Given the description of an element on the screen output the (x, y) to click on. 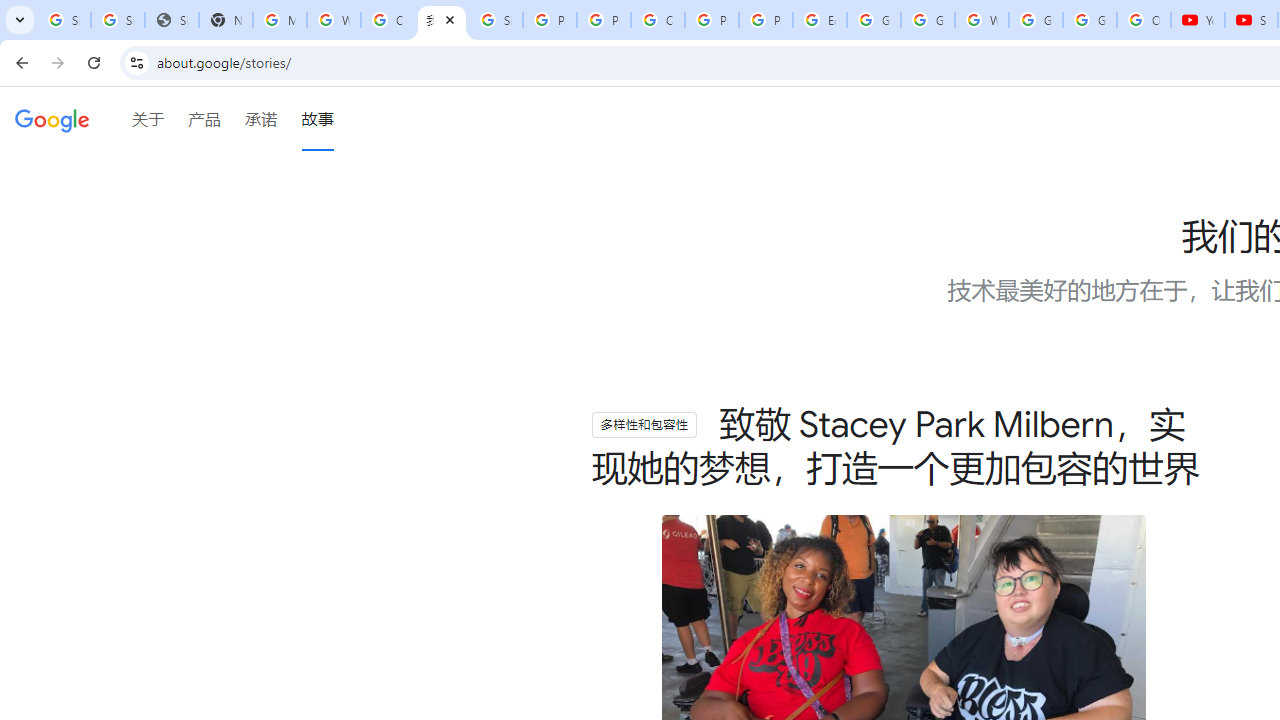
Sign In - USA TODAY (171, 20)
Edit and view right-to-left text - Google Docs Editors Help (819, 20)
Google Account (1089, 20)
Sign in - Google Accounts (495, 20)
